Given the description of an element on the screen output the (x, y) to click on. 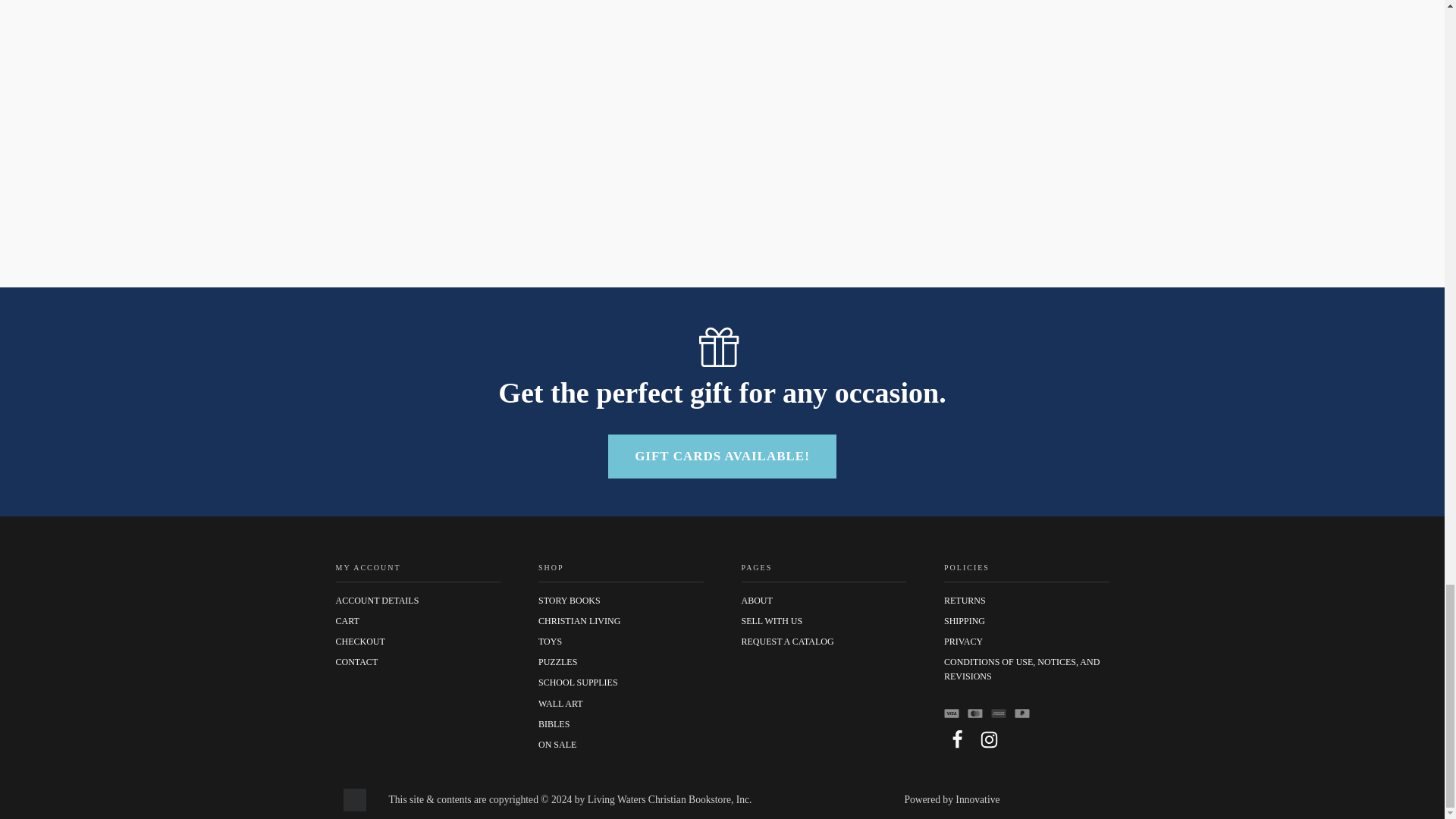
PayPal (1021, 713)
American Express (998, 713)
Mastercard (975, 713)
Visa (951, 713)
